Given the description of an element on the screen output the (x, y) to click on. 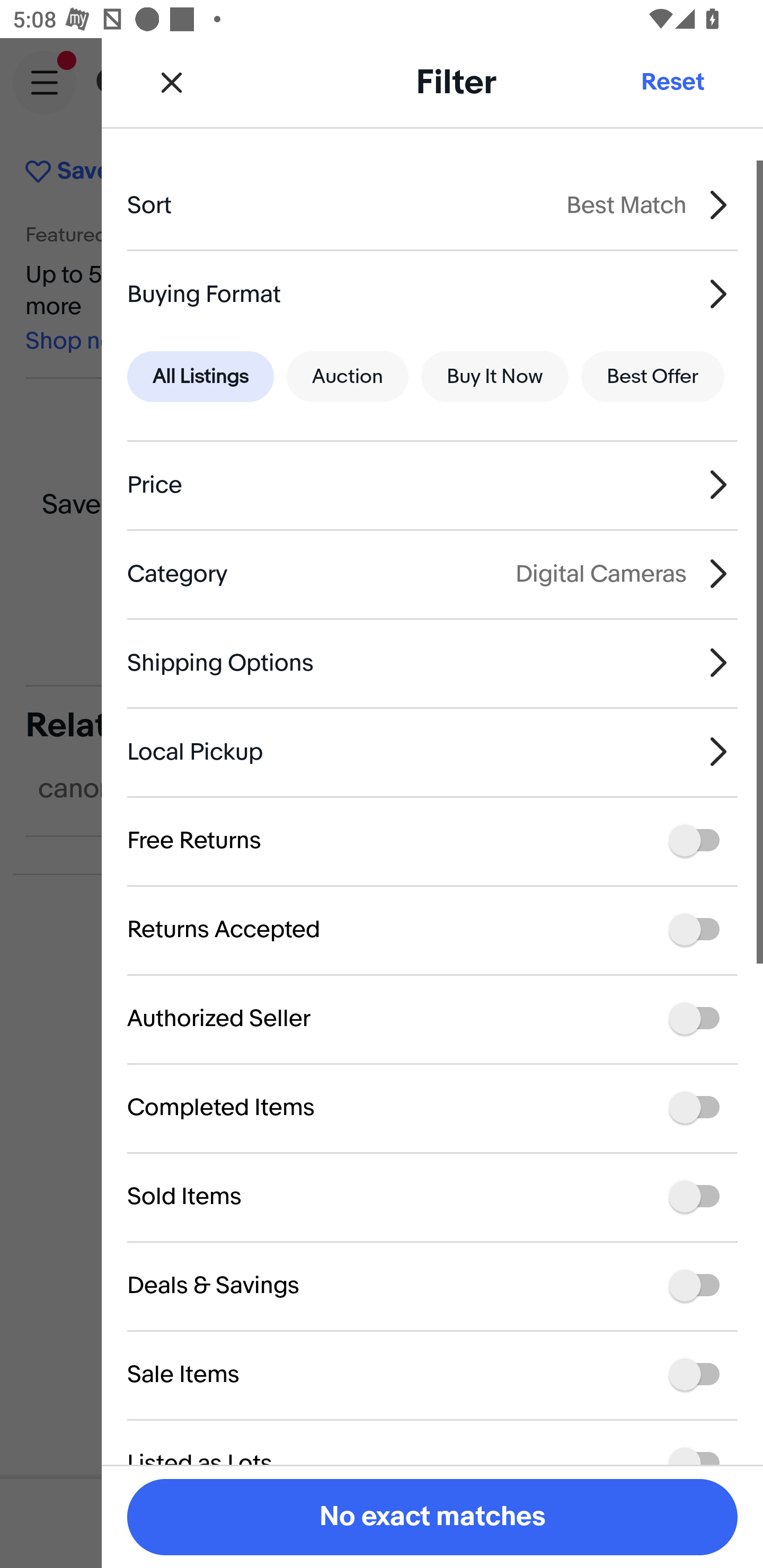
Close Filter (171, 81)
Reset (672, 81)
Buying Format (432, 293)
All Listings (200, 376)
Auction (347, 376)
Buy It Now (494, 376)
Best Offer (652, 376)
Price (432, 484)
Category Digital Cameras (432, 573)
Shipping Options (432, 662)
Local Pickup (432, 751)
Free Returns (432, 840)
Returns Accepted (432, 929)
Authorized Seller (432, 1018)
Completed Items (432, 1107)
Sold Items (432, 1196)
Deals & Savings (432, 1285)
Sale Items (432, 1374)
No exact matches (432, 1516)
